Given the description of an element on the screen output the (x, y) to click on. 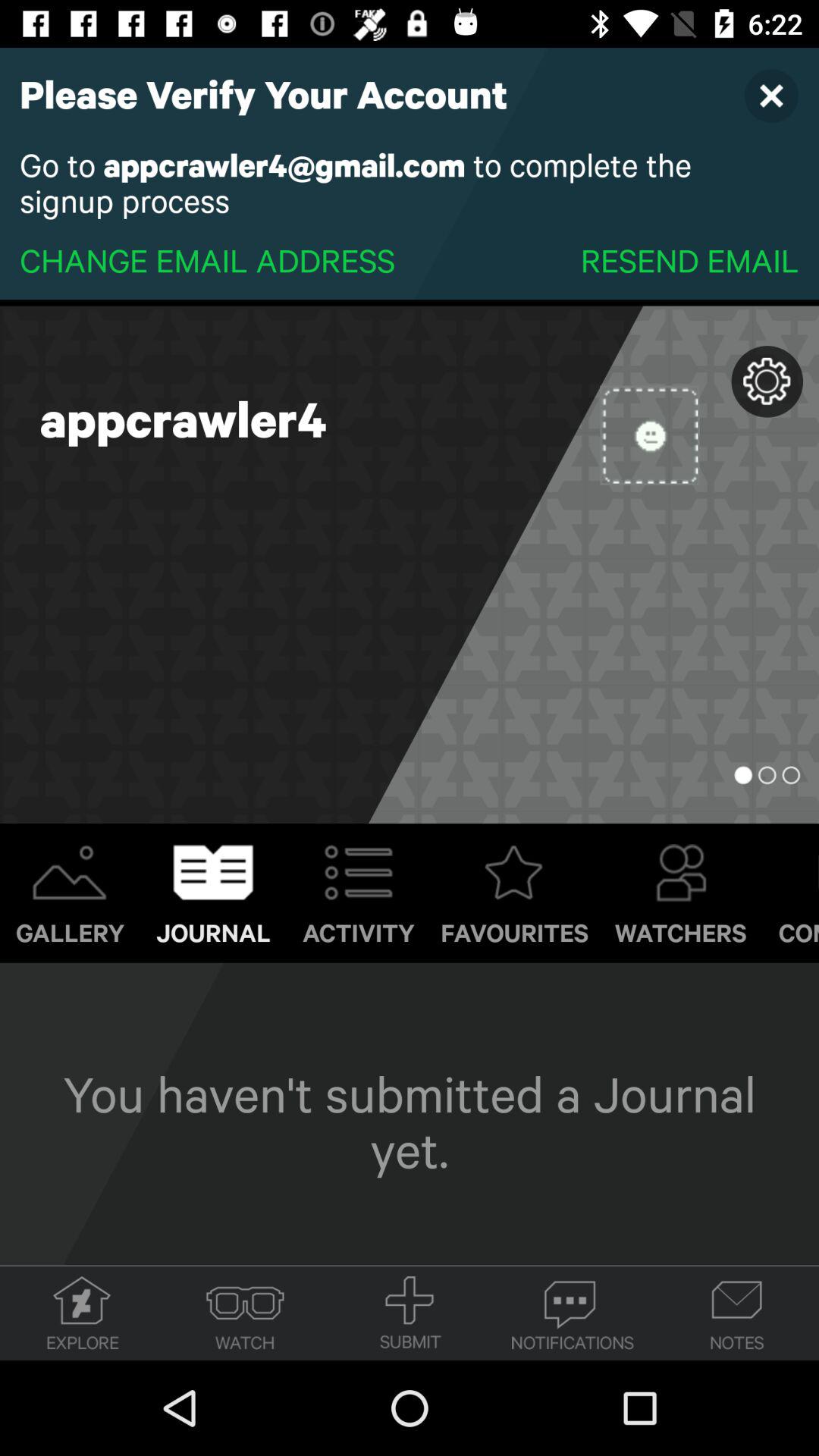
open icon next to appcrawler4 icon (649, 435)
